Given the description of an element on the screen output the (x, y) to click on. 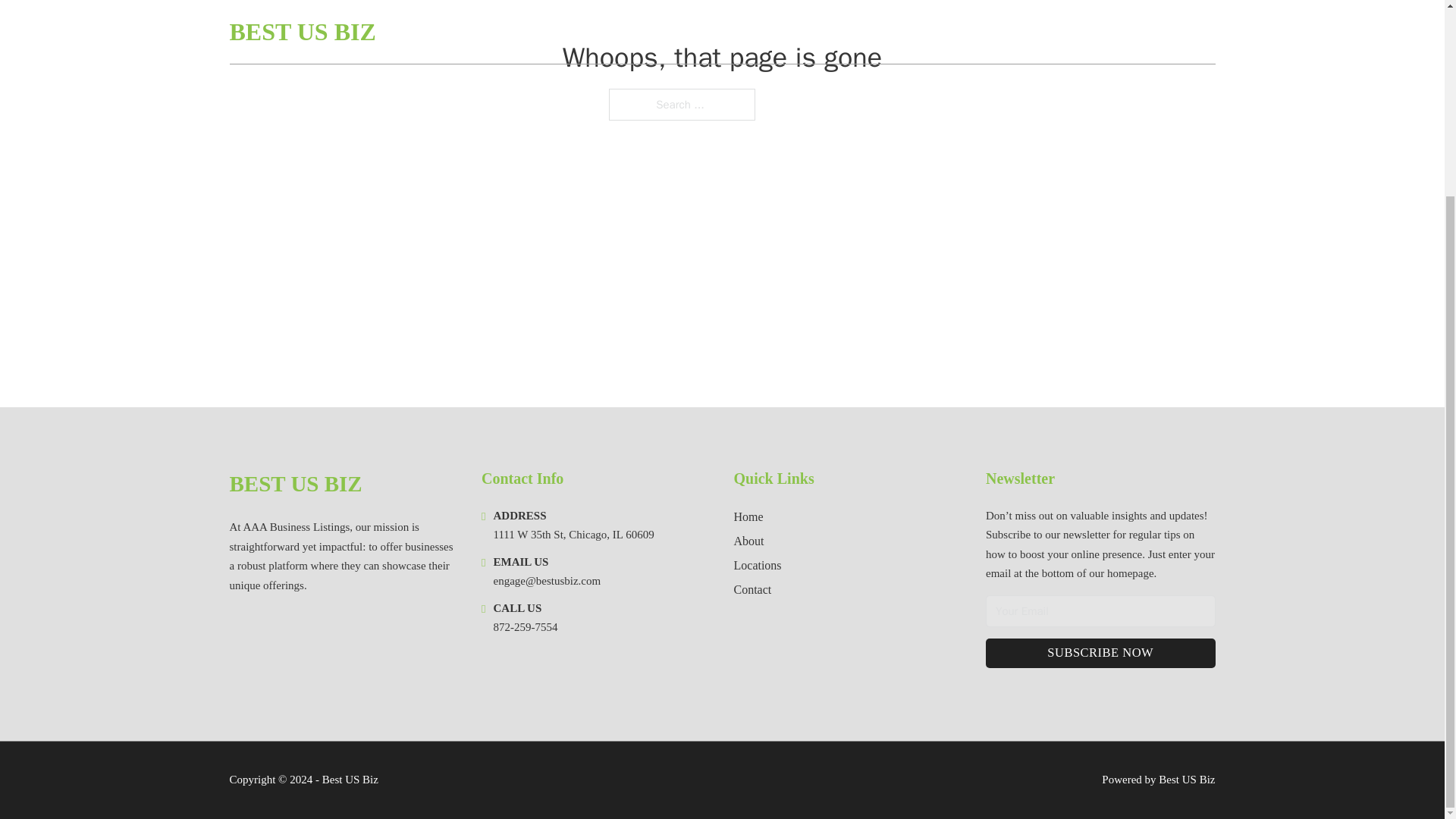
Home (747, 516)
BEST US BIZ (294, 484)
About (748, 540)
SUBSCRIBE NOW (1100, 653)
Contact (752, 589)
Locations (757, 565)
872-259-7554 (525, 626)
